Given the description of an element on the screen output the (x, y) to click on. 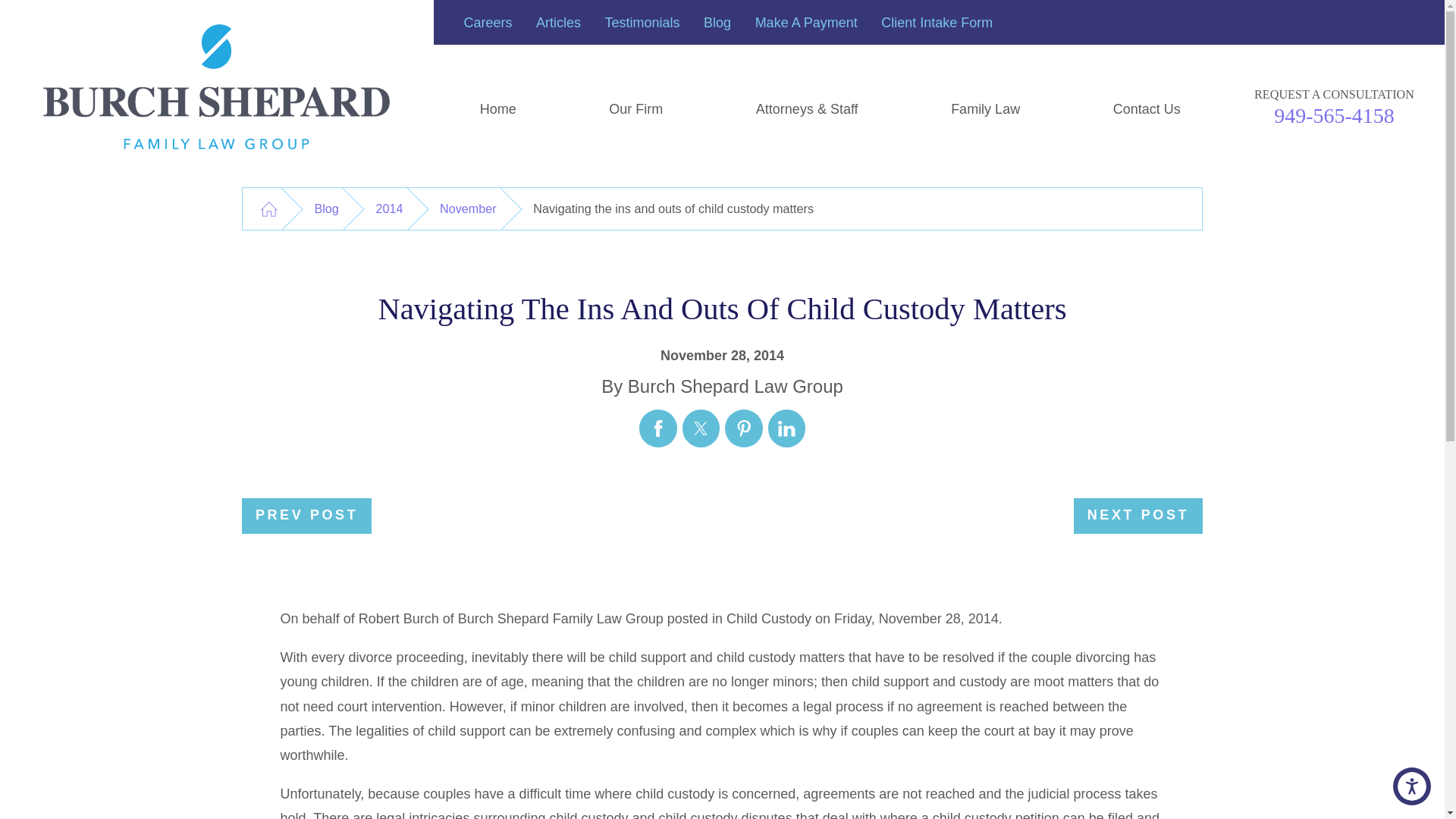
Make A Payment (806, 22)
Go Home (269, 208)
Articles (557, 22)
Careers (488, 22)
Our Firm (636, 109)
Home (498, 109)
Blog (716, 22)
Open the accessibility options menu (1412, 786)
Client Intake Form (936, 22)
Burch Shepard Family Law Group (216, 86)
